Given the description of an element on the screen output the (x, y) to click on. 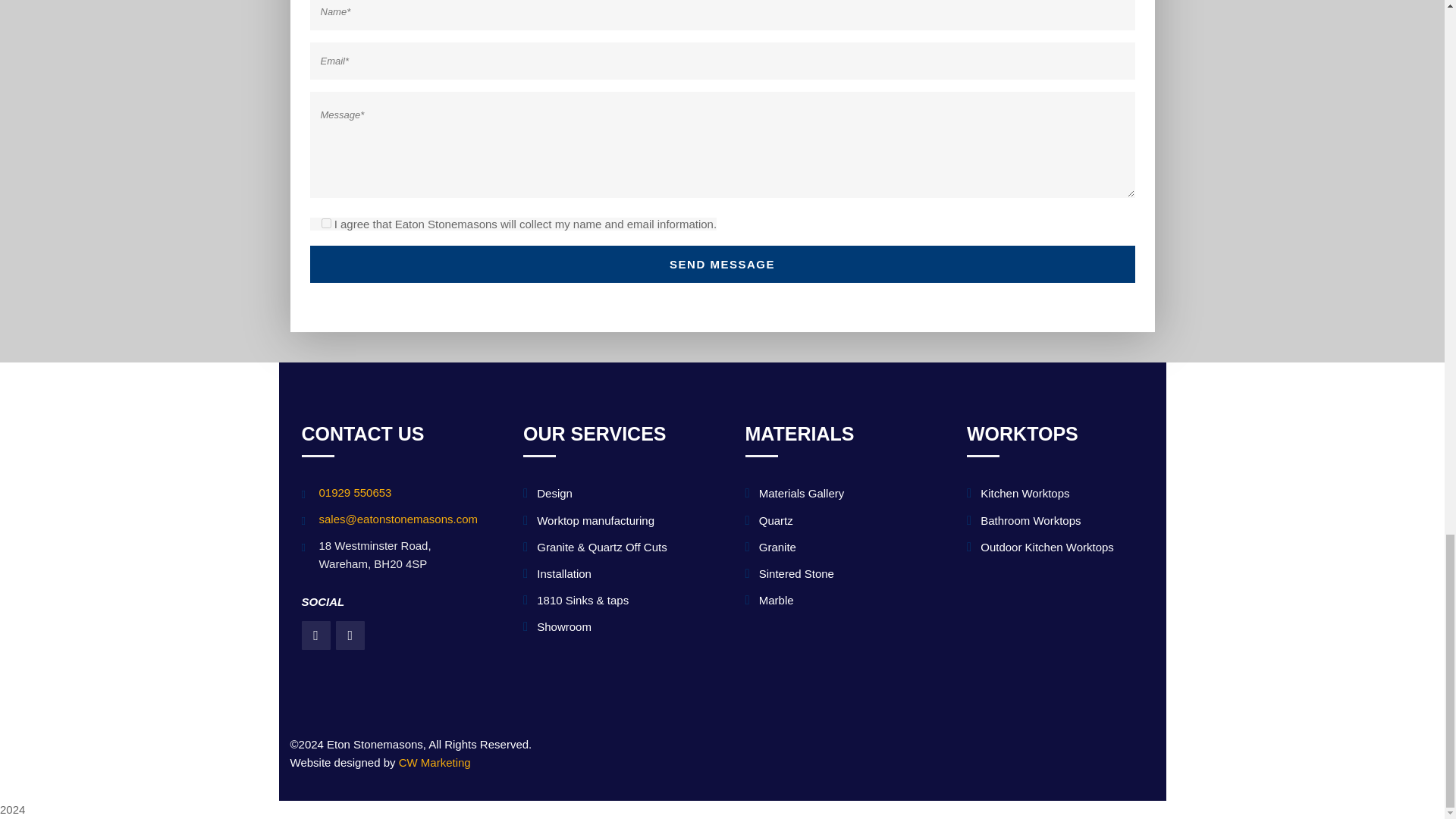
Send message (721, 263)
1 (326, 223)
